Given the description of an element on the screen output the (x, y) to click on. 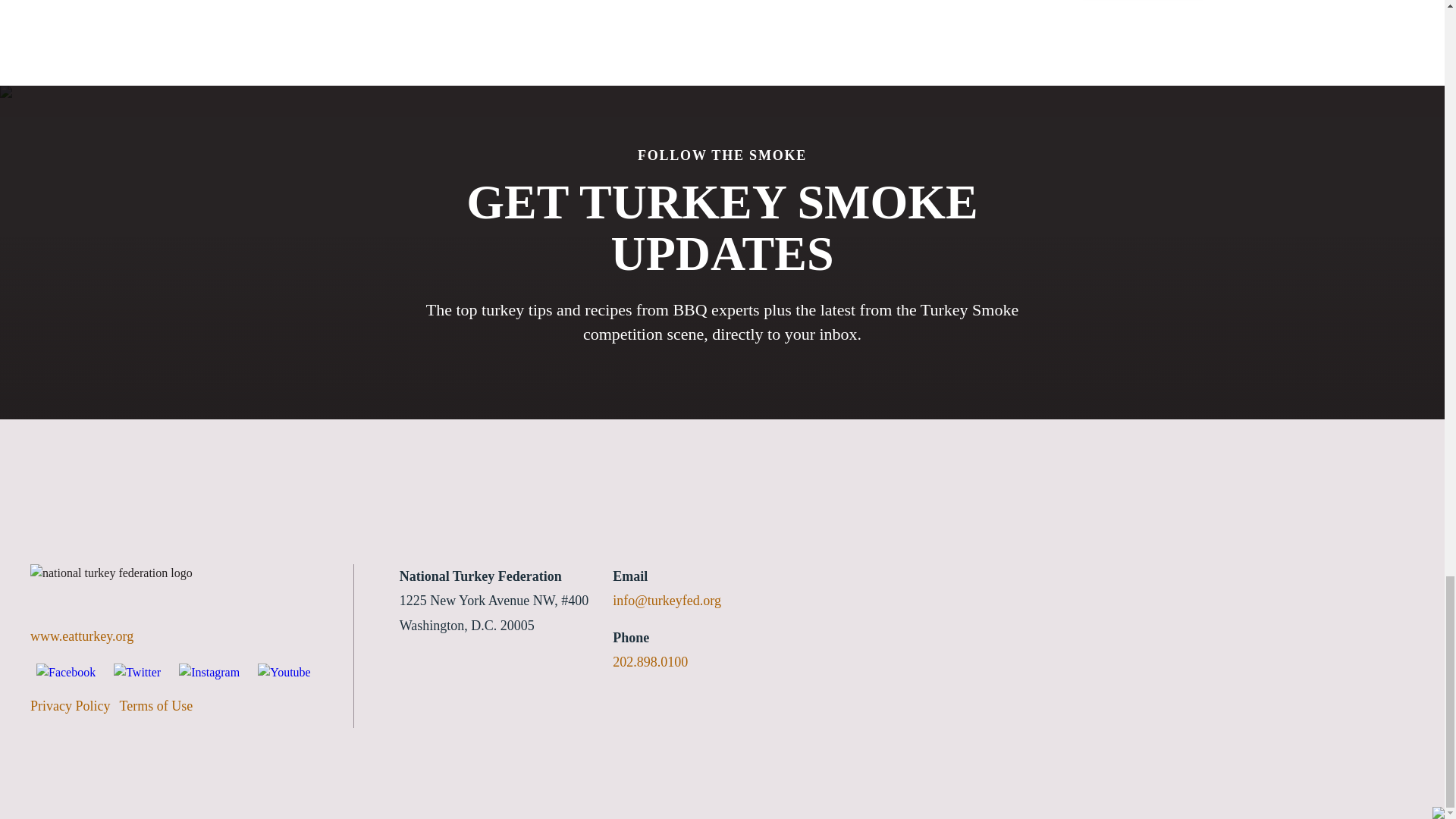
www.eatturkey.org (176, 636)
Terms of Use (160, 705)
202.898.0100 (654, 661)
Privacy Policy (74, 705)
